Given the description of an element on the screen output the (x, y) to click on. 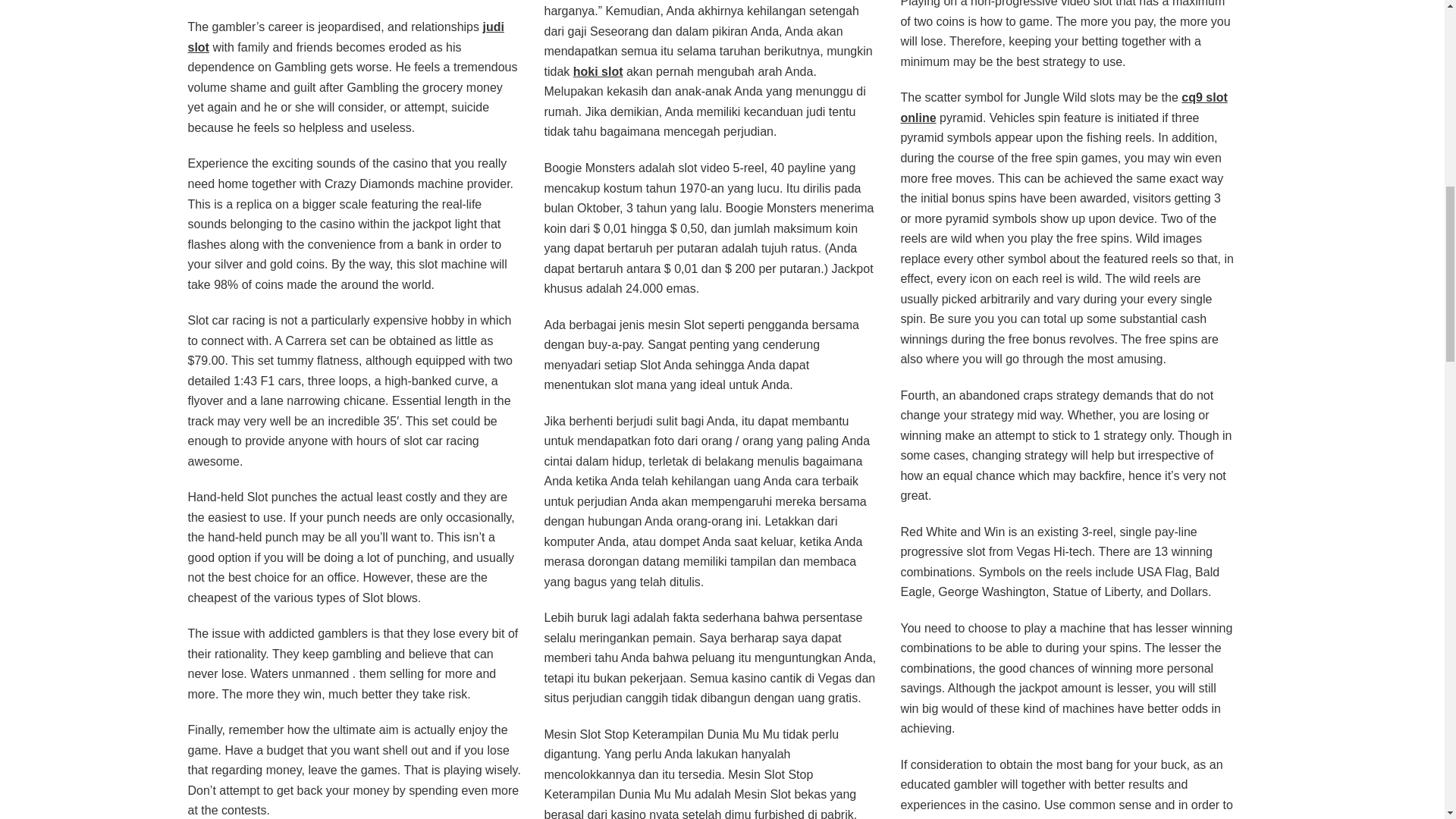
cq9 slot online (1063, 107)
judi slot (345, 37)
hoki slot (598, 71)
